Given the description of an element on the screen output the (x, y) to click on. 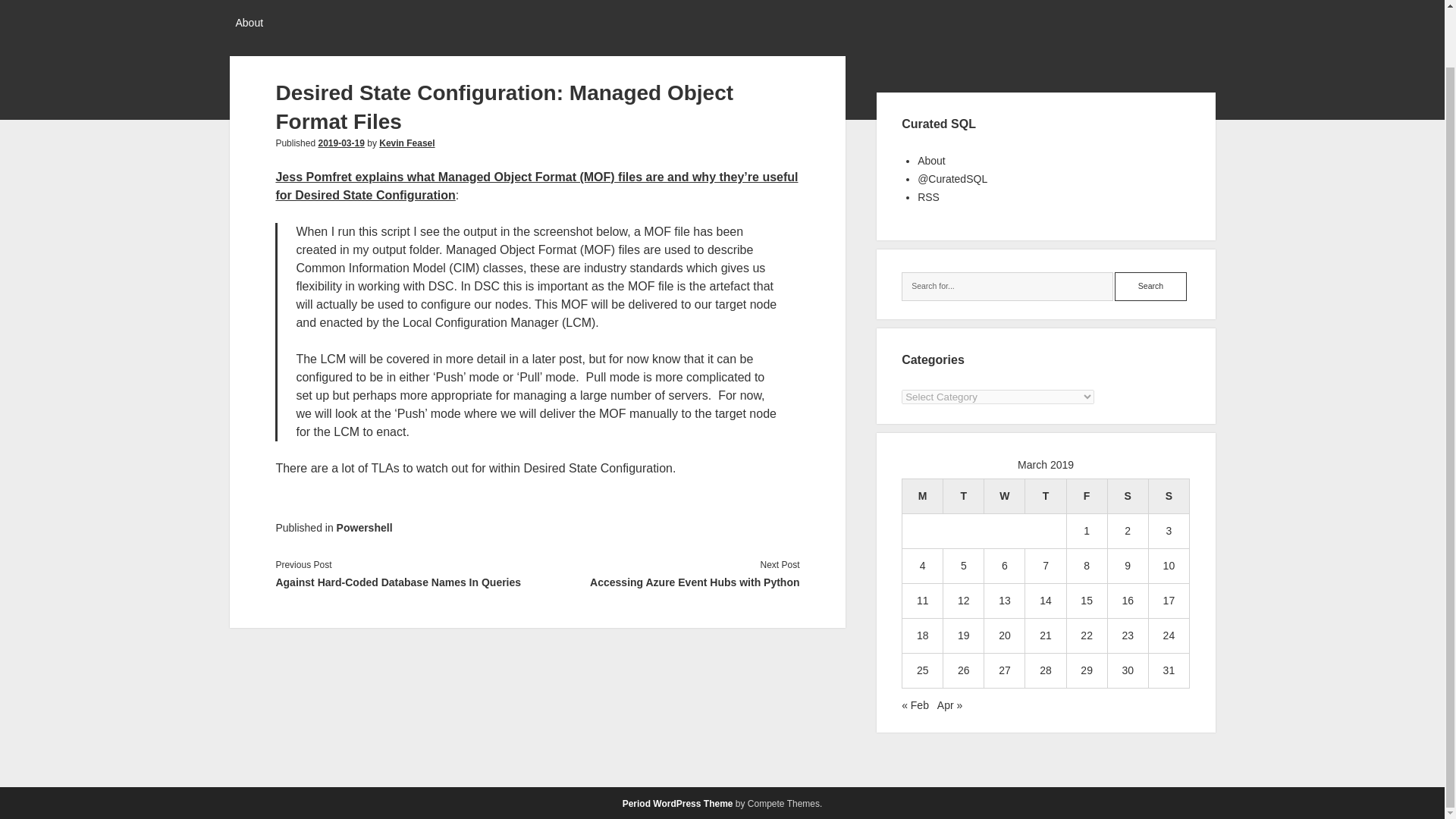
Search (1150, 286)
Period WordPress Theme (678, 803)
Tuesday (963, 495)
19 (963, 635)
Kevin Feasel (405, 143)
View all posts in Powershell (364, 527)
Search for: (1007, 286)
Powershell (364, 527)
Search (1150, 286)
11 (922, 600)
